Given the description of an element on the screen output the (x, y) to click on. 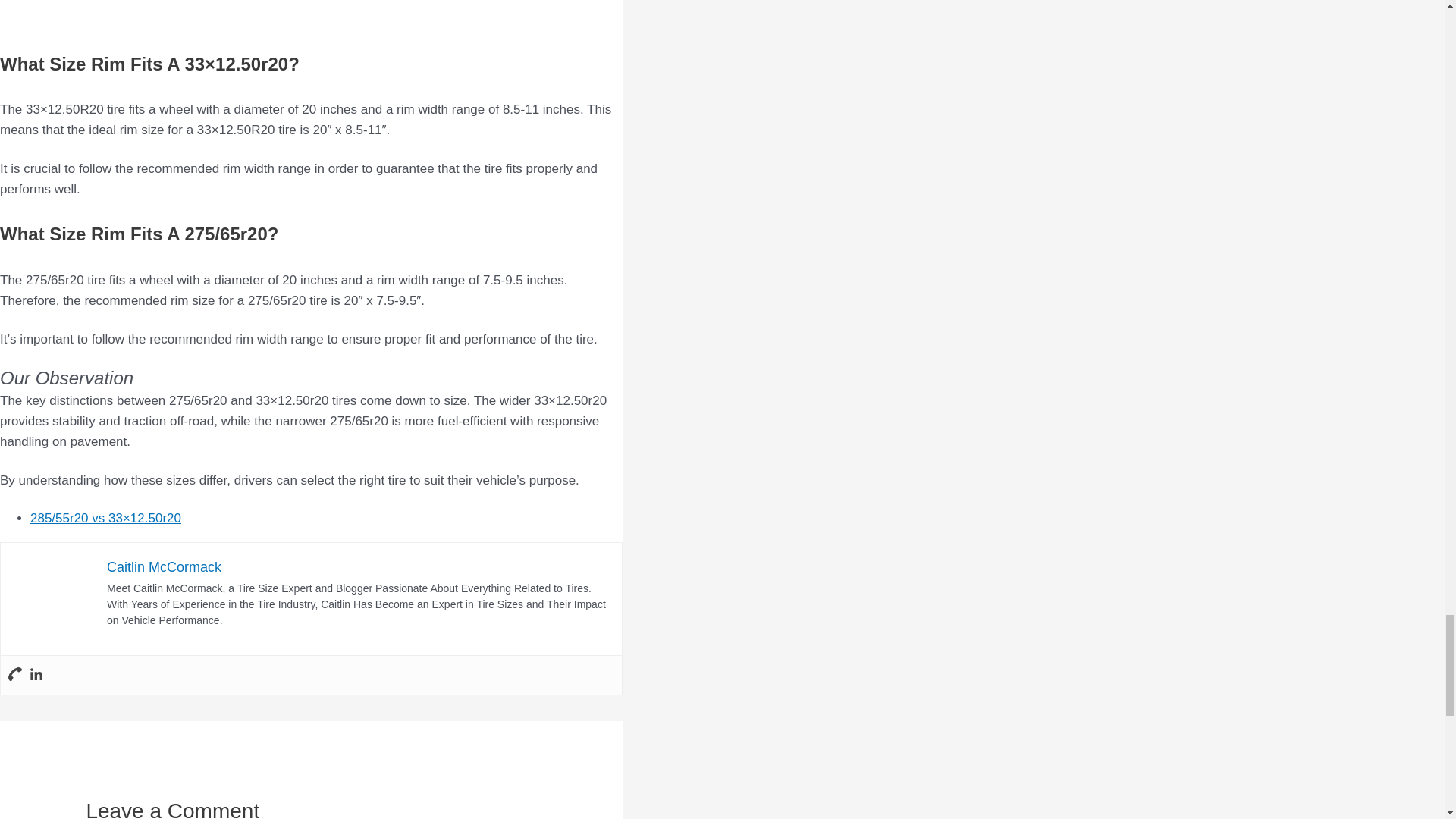
Caitlin McCormack (163, 566)
Phone (14, 675)
Linkedin (36, 675)
